Given the description of an element on the screen output the (x, y) to click on. 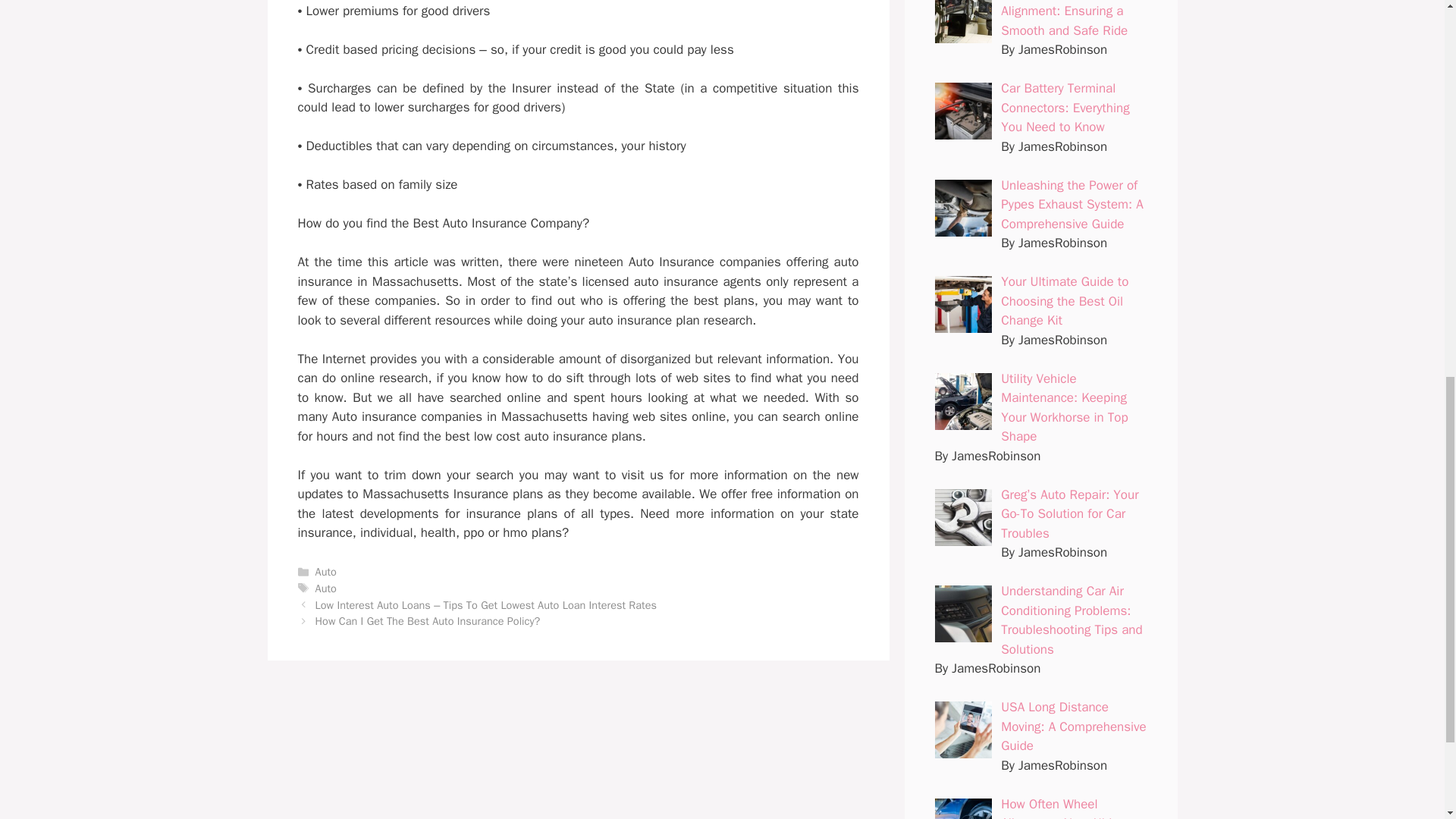
Jiffy Lube Wheel Alignment: Ensuring a Smooth and Safe Ride (1063, 19)
How Often Wheel Alignment: Your Ultimate Guide (1070, 807)
Auto (325, 588)
Car Battery Terminal Connectors: Everything You Need to Know (1065, 107)
Your Ultimate Guide to Choosing the Best Oil Change Kit (1064, 300)
USA Long Distance Moving: A Comprehensive Guide (1074, 726)
How Can I Get The Best Auto Insurance Policy? (427, 621)
Auto (325, 571)
